Given the description of an element on the screen output the (x, y) to click on. 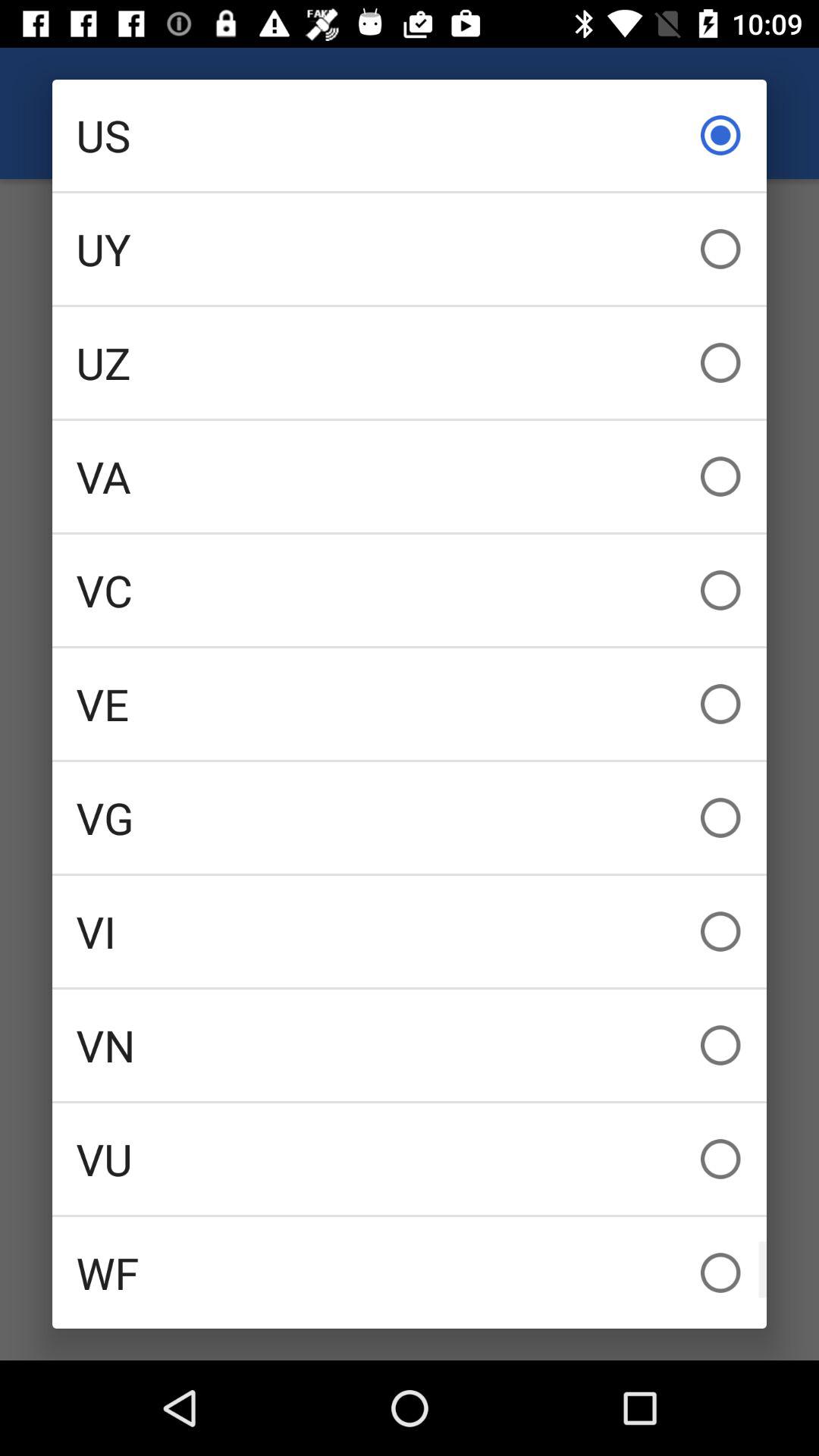
scroll until vn checkbox (409, 1045)
